Given the description of an element on the screen output the (x, y) to click on. 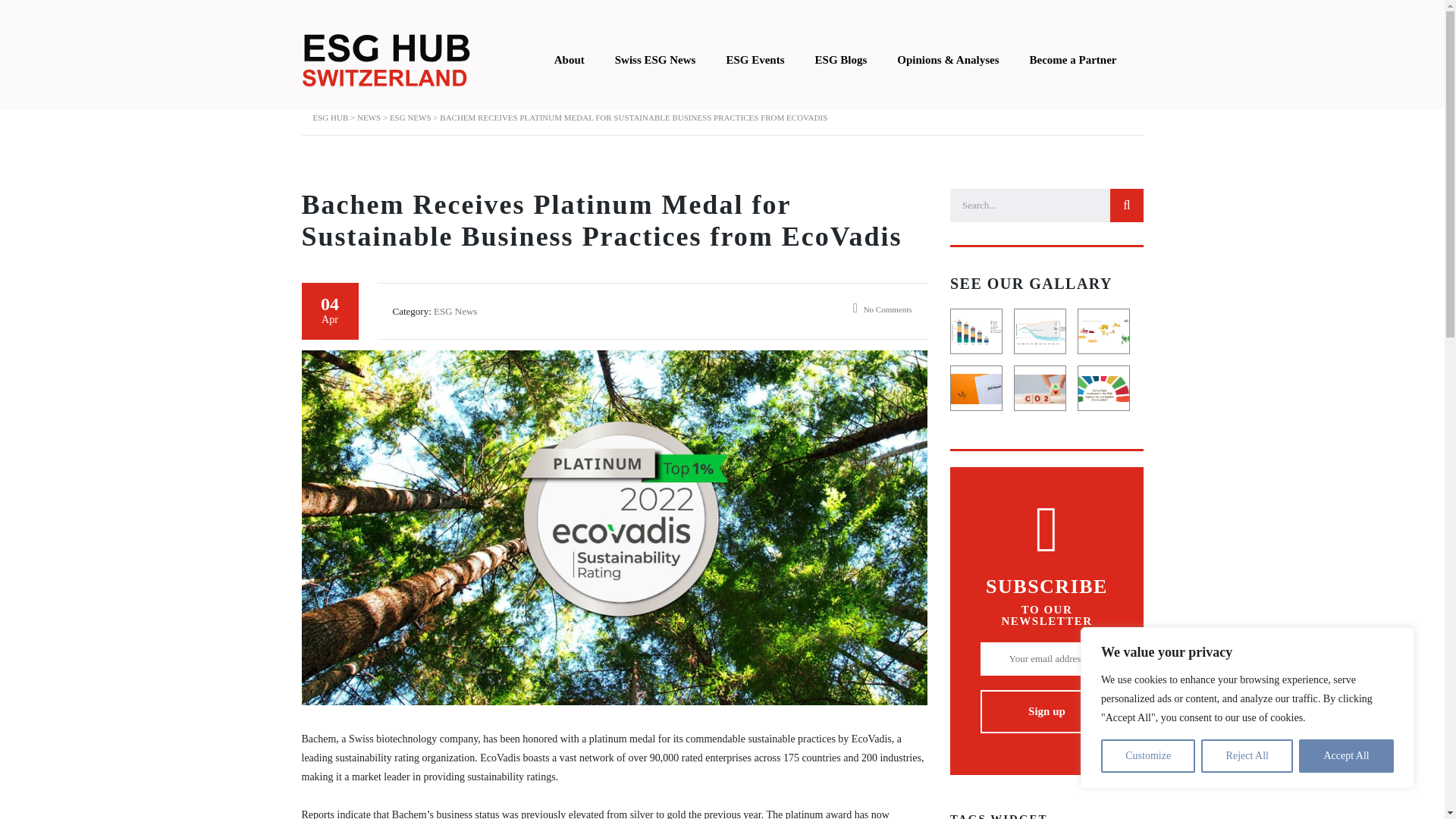
Reject All (1246, 756)
ESG Blogs (840, 60)
ESG HUB (330, 117)
No Comments (882, 308)
ESG Events (754, 60)
Go to ESG HUB. (330, 117)
Switzerland Climate Strategy (1040, 331)
Switzerland Climate Strategy (1040, 332)
Accept All (1345, 756)
Swiss ESG News (655, 60)
